Given the description of an element on the screen output the (x, y) to click on. 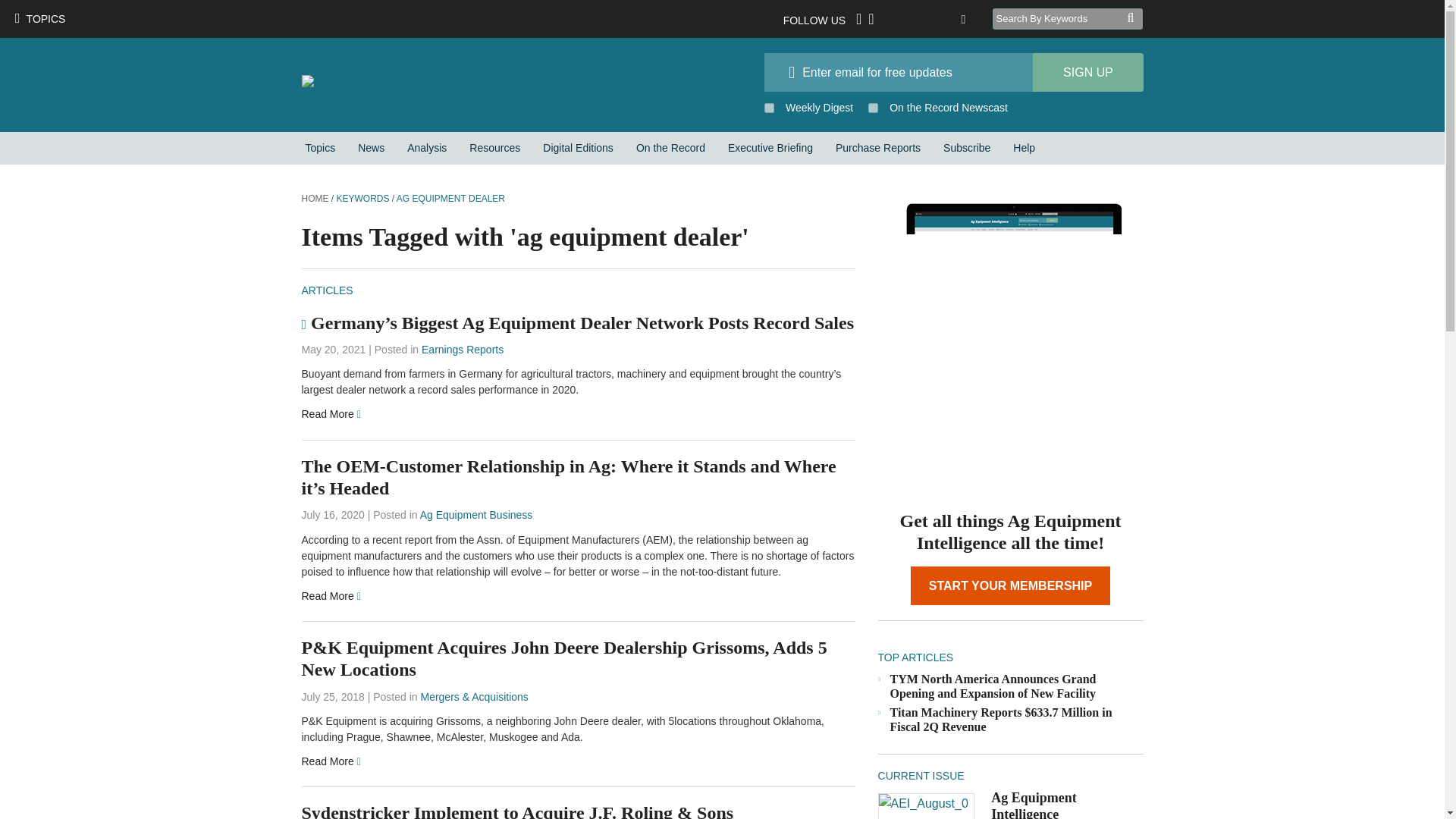
1 (872, 108)
Topics (320, 147)
TOPICS (39, 18)
SIGN UP (1087, 72)
1 (769, 108)
Search By Keywords (1058, 18)
Search By Keywords (1058, 18)
